Given the description of an element on the screen output the (x, y) to click on. 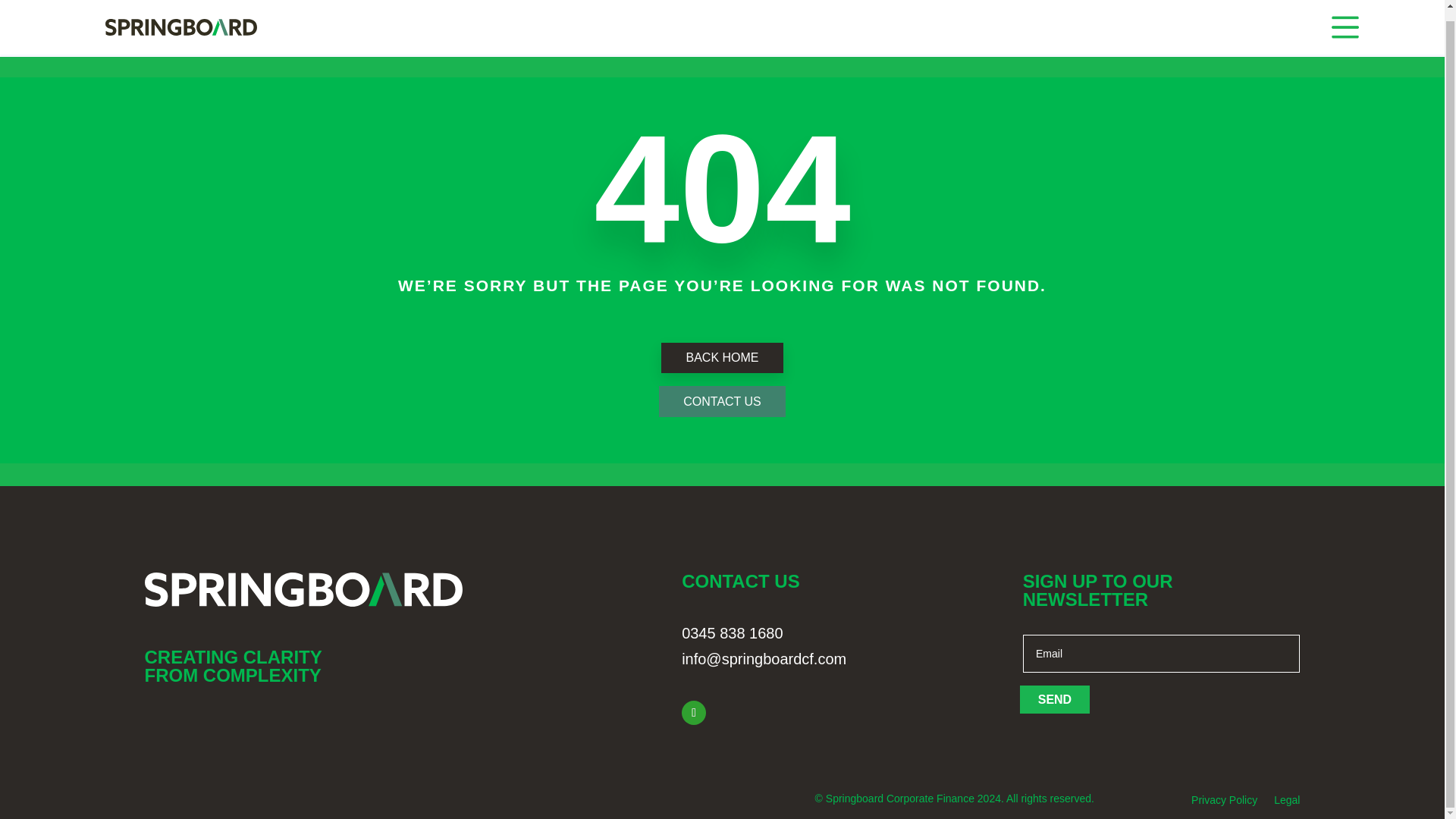
Privacy Policy (1224, 802)
CONTACT US (722, 400)
BACK HOME (722, 358)
SEND (1054, 699)
0345 838 1680 (732, 632)
Legal (1287, 802)
Follow on LinkedIn (693, 712)
